Given the description of an element on the screen output the (x, y) to click on. 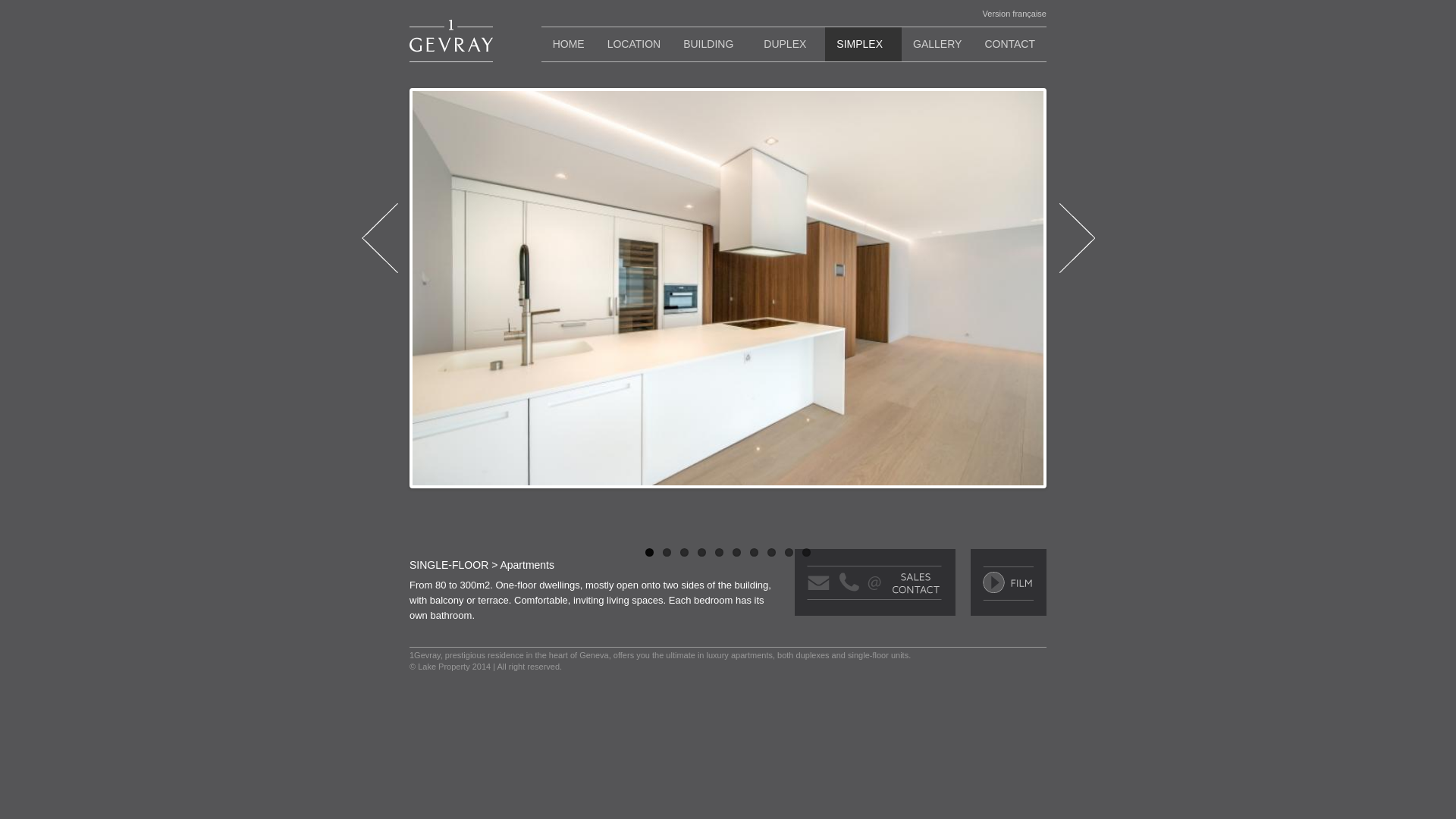
9 Element type: text (788, 552)
4 Element type: text (701, 552)
DUPLEX Element type: text (788, 43)
8 Element type: text (771, 552)
LOCATION Element type: text (634, 43)
5 Element type: text (719, 552)
GALLERY Element type: text (937, 43)
HOME Element type: text (568, 43)
CONTACT Element type: text (1009, 43)
6 Element type: text (736, 552)
1 Element type: text (649, 552)
SIMPLEX Element type: text (863, 43)
2 Element type: text (666, 552)
10 Element type: text (806, 552)
3 Element type: text (684, 552)
7 Element type: text (753, 552)
Home Element type: hover (450, 40)
BUILDING Element type: text (711, 43)
